Given the description of an element on the screen output the (x, y) to click on. 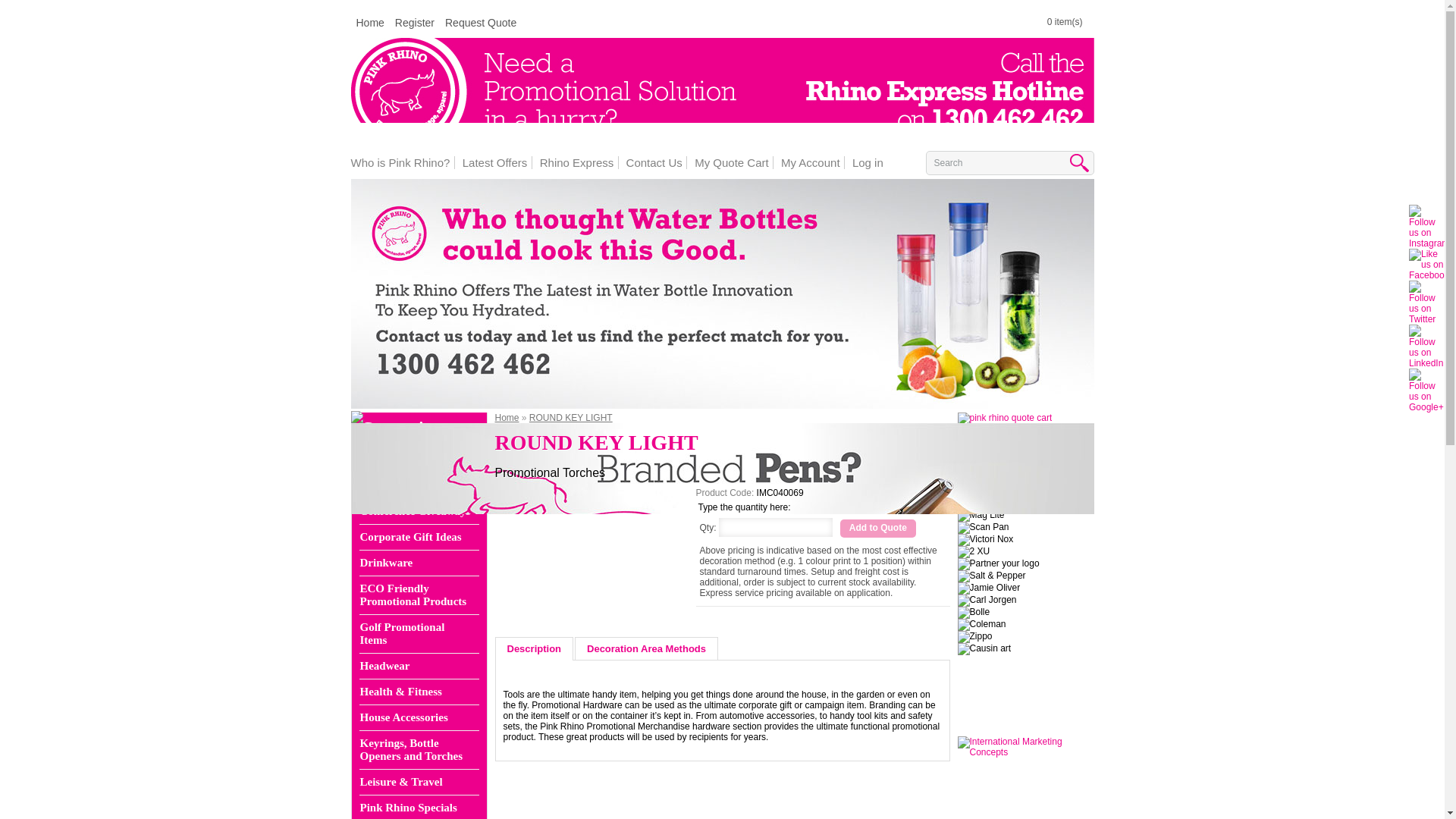
ROUND KEY LIGHT (552, 503)
My Account (806, 162)
Latest Offers (490, 162)
Conference Giveaways (416, 511)
Who is Pink Rhino? (399, 162)
Home (370, 22)
Search (1013, 162)
Log in (863, 162)
Rhino Express (572, 162)
Register (414, 22)
Corporate Gift Ideas (416, 536)
Request Quote (480, 22)
Drinkware (416, 562)
Contact Us (649, 162)
ROUND KEY LIGHT (552, 502)
